Given the description of an element on the screen output the (x, y) to click on. 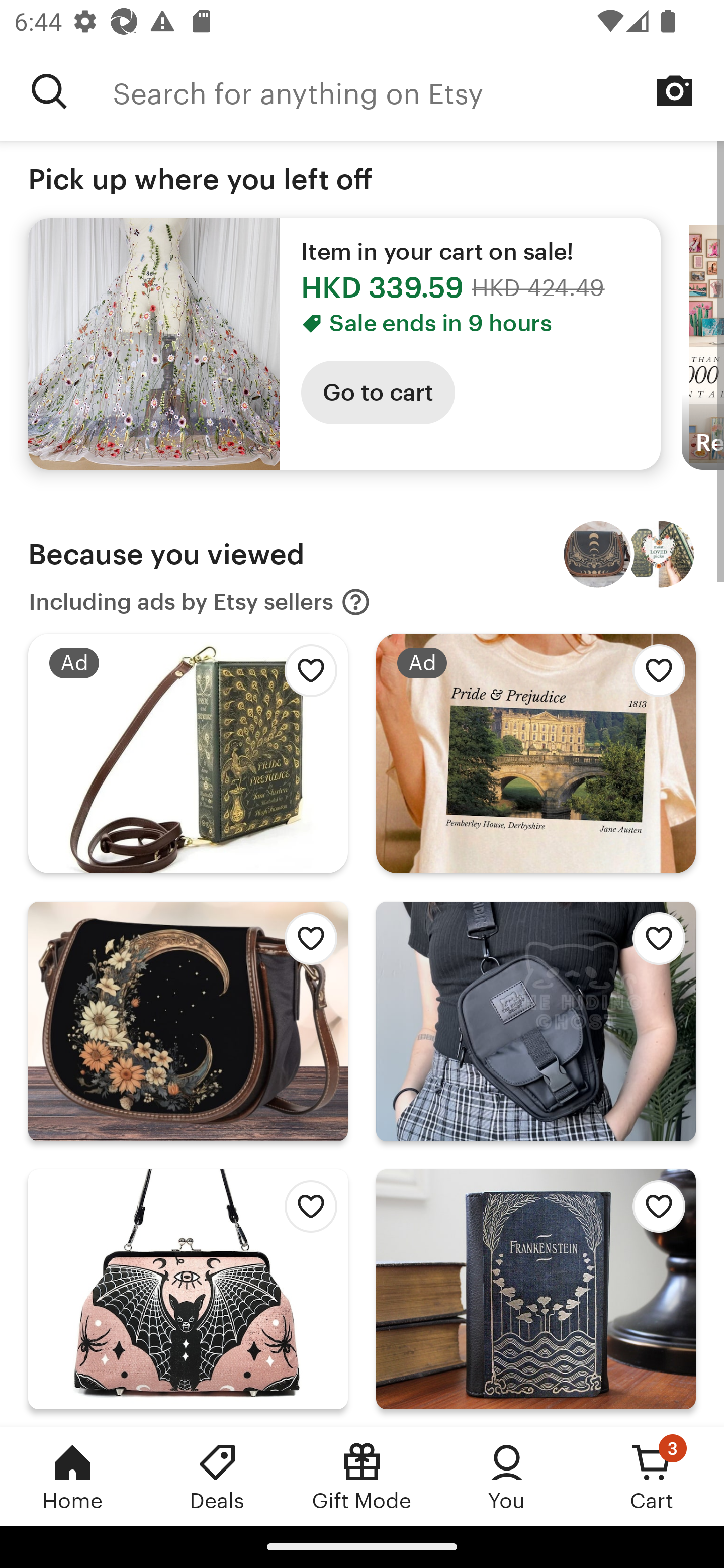
Search for anything on Etsy (49, 91)
Search by image (674, 90)
Search for anything on Etsy (418, 91)
Including ads by Etsy sellers (199, 601)
Deals (216, 1475)
Gift Mode (361, 1475)
You (506, 1475)
Cart, 3 new notifications Cart (651, 1475)
